Given the description of an element on the screen output the (x, y) to click on. 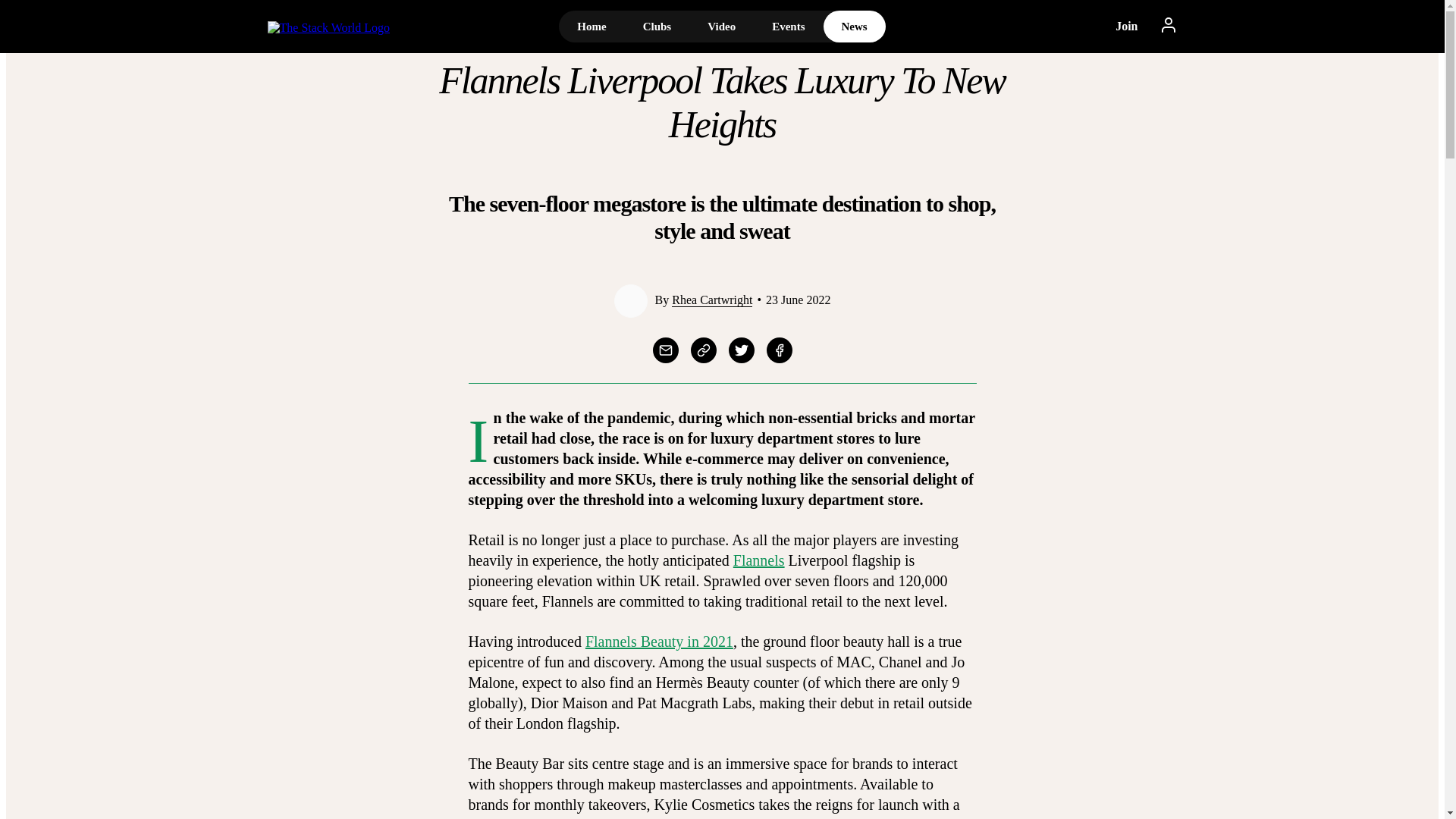
Join (1126, 26)
News (854, 26)
Clubs (657, 26)
Home (591, 26)
Flannels (758, 560)
BUSINESS (721, 39)
Events (788, 26)
Video (721, 26)
Flannels Beauty in 2021 (659, 641)
